Given the description of an element on the screen output the (x, y) to click on. 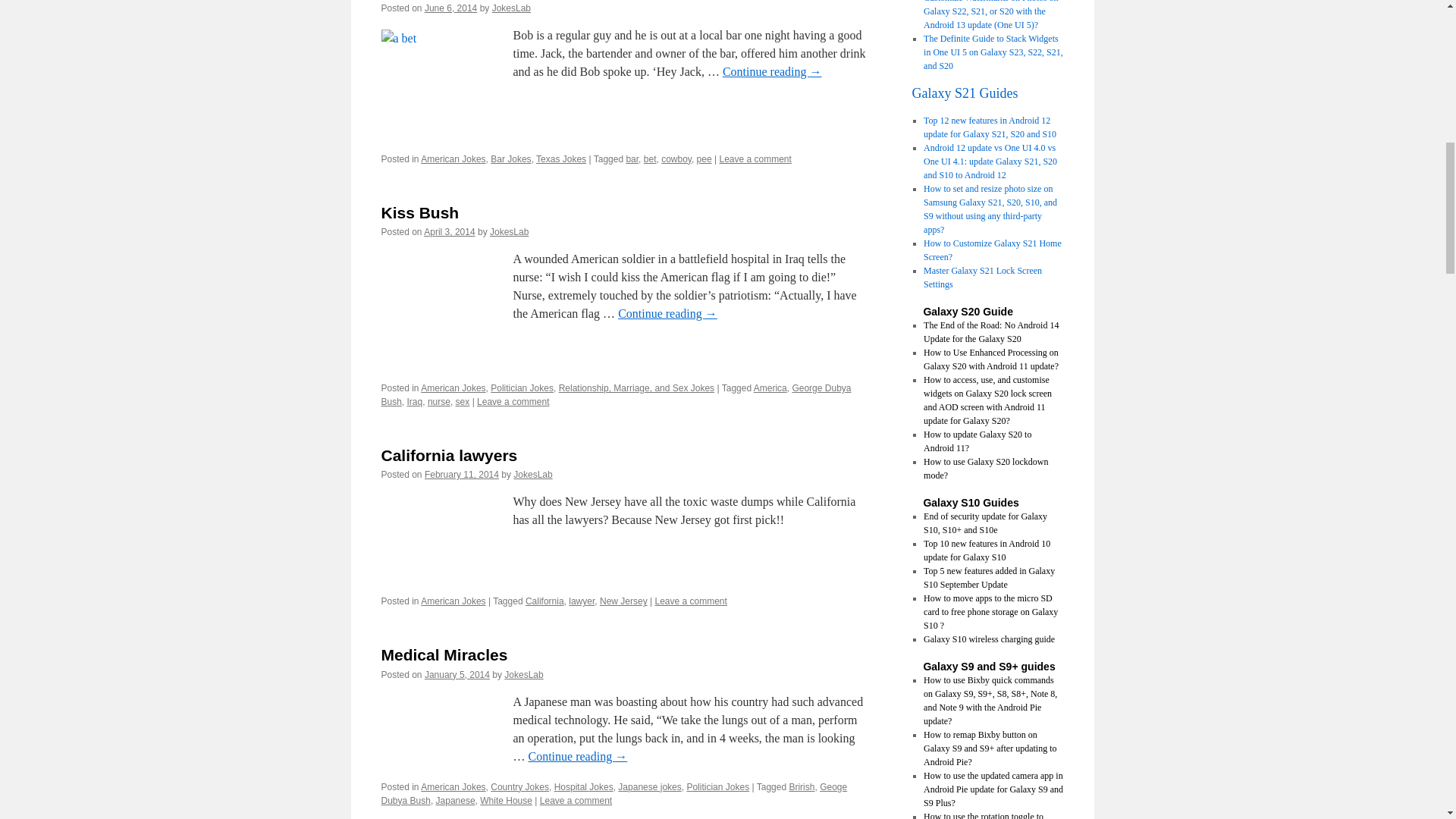
JokesLab (511, 8)
9:21 am (448, 231)
1:11 pm (451, 8)
funny-pose-I-enjoy-the-blow-job (437, 312)
View all posts by JokesLab (511, 8)
June 6, 2014 (451, 8)
1:53 pm (457, 674)
View all posts by JokesLab (508, 231)
View all posts by JokesLab (532, 474)
1:19 pm (462, 474)
